Given the description of an element on the screen output the (x, y) to click on. 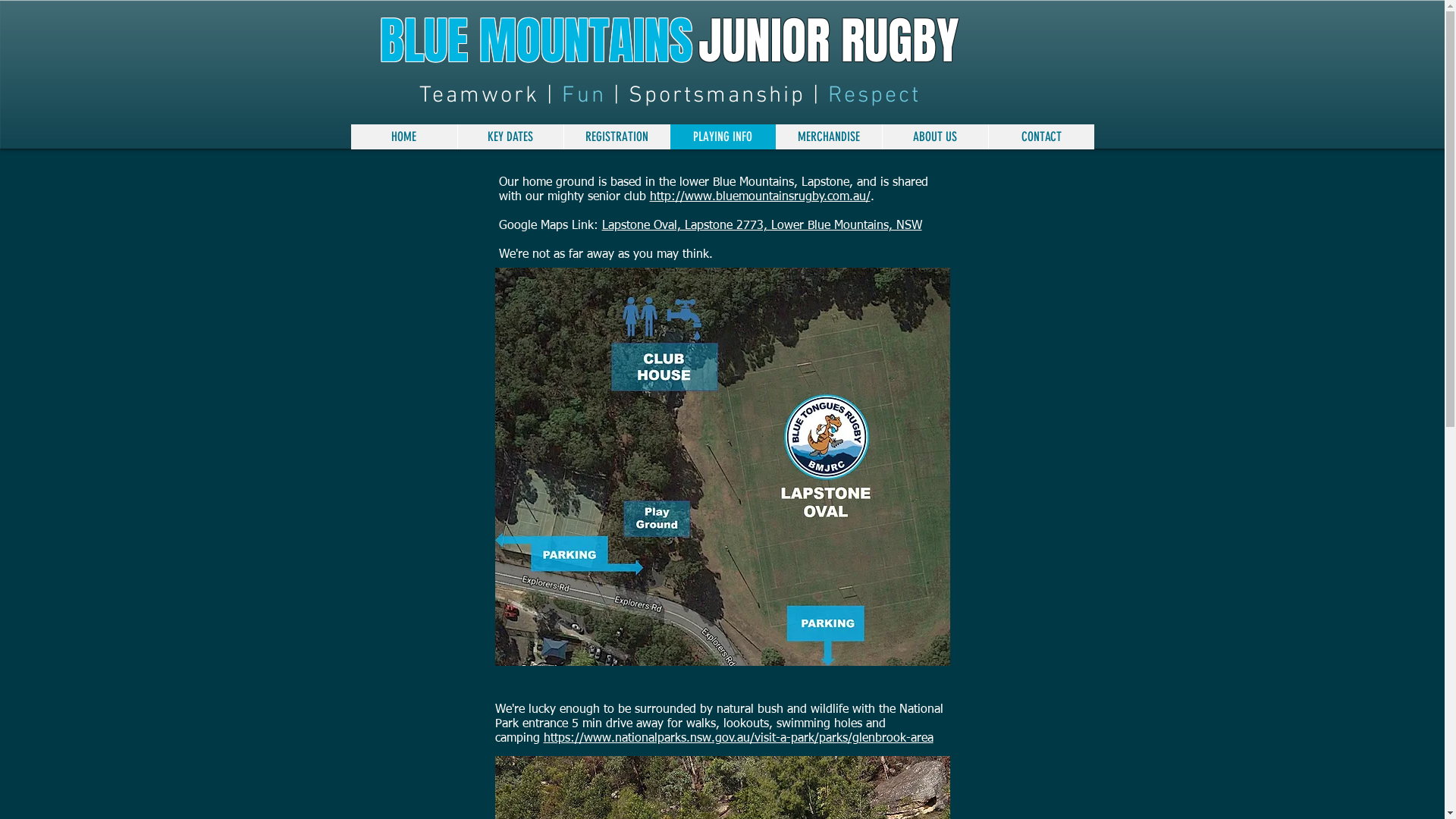
KEY DATES Element type: text (509, 136)
.  Element type: text (874, 197)
Lapstone Oval, Lapstone 2773, Lower Blue Mountains, NSW Element type: text (762, 225)
BLUE MOUNTAINS Element type: text (535, 41)
MERCHANDISE Element type: text (828, 136)
Google Maps Link:  Element type: text (550, 225)
http://www.bluemountainsrugby.com.au/ Element type: text (759, 197)
HOME Element type: text (403, 136)
We're not as far away as you may think. Element type: text (605, 254)
PLAYING INFO Element type: text (721, 136)
ABOUT US Element type: text (934, 136)
REGISTRATION Element type: text (615, 136)
CONTACT Element type: text (1040, 136)
